Given the description of an element on the screen output the (x, y) to click on. 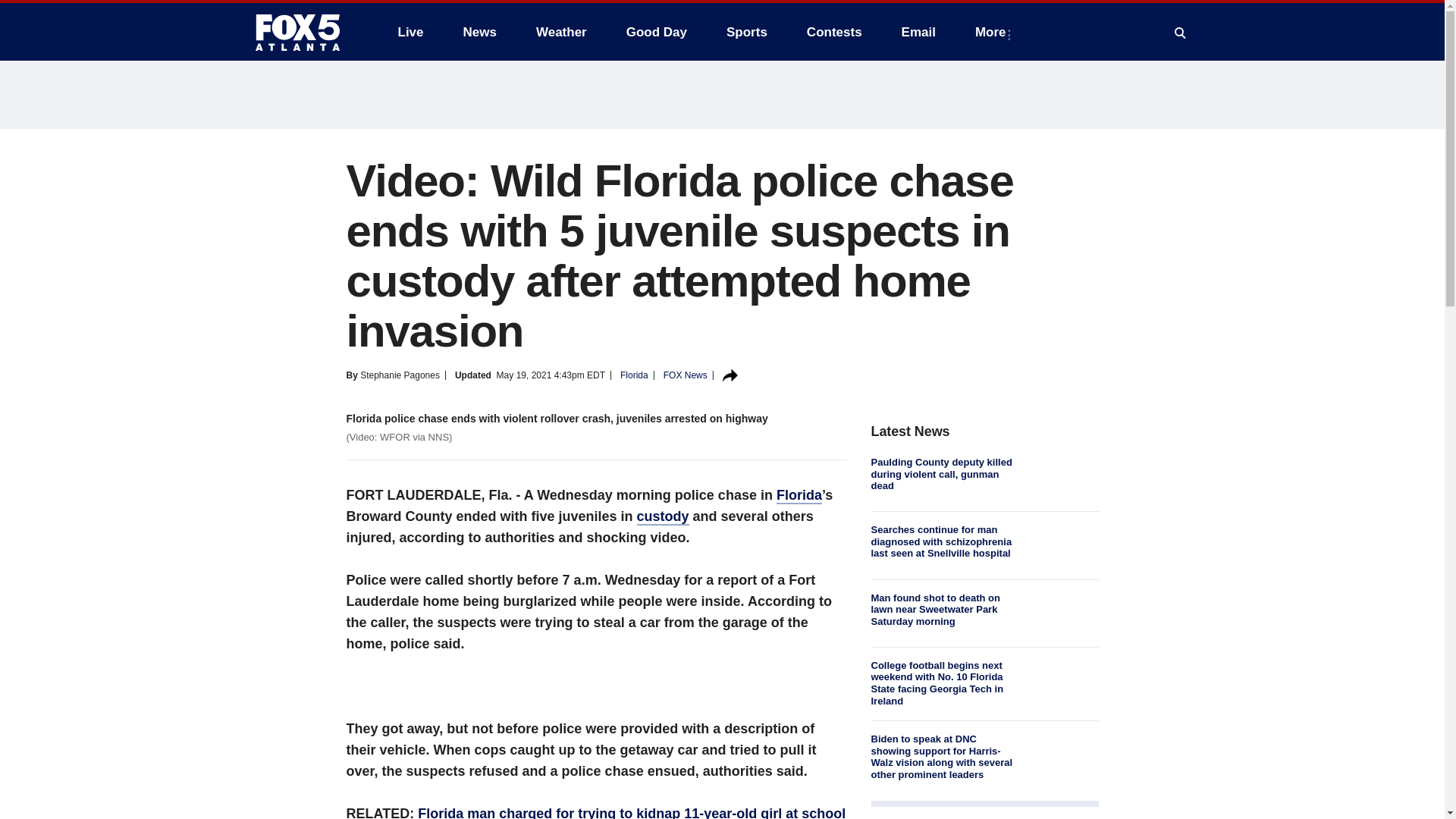
More (993, 32)
Sports (746, 32)
News (479, 32)
Weather (561, 32)
Good Day (656, 32)
Email (918, 32)
Contests (834, 32)
Live (410, 32)
